Given the description of an element on the screen output the (x, y) to click on. 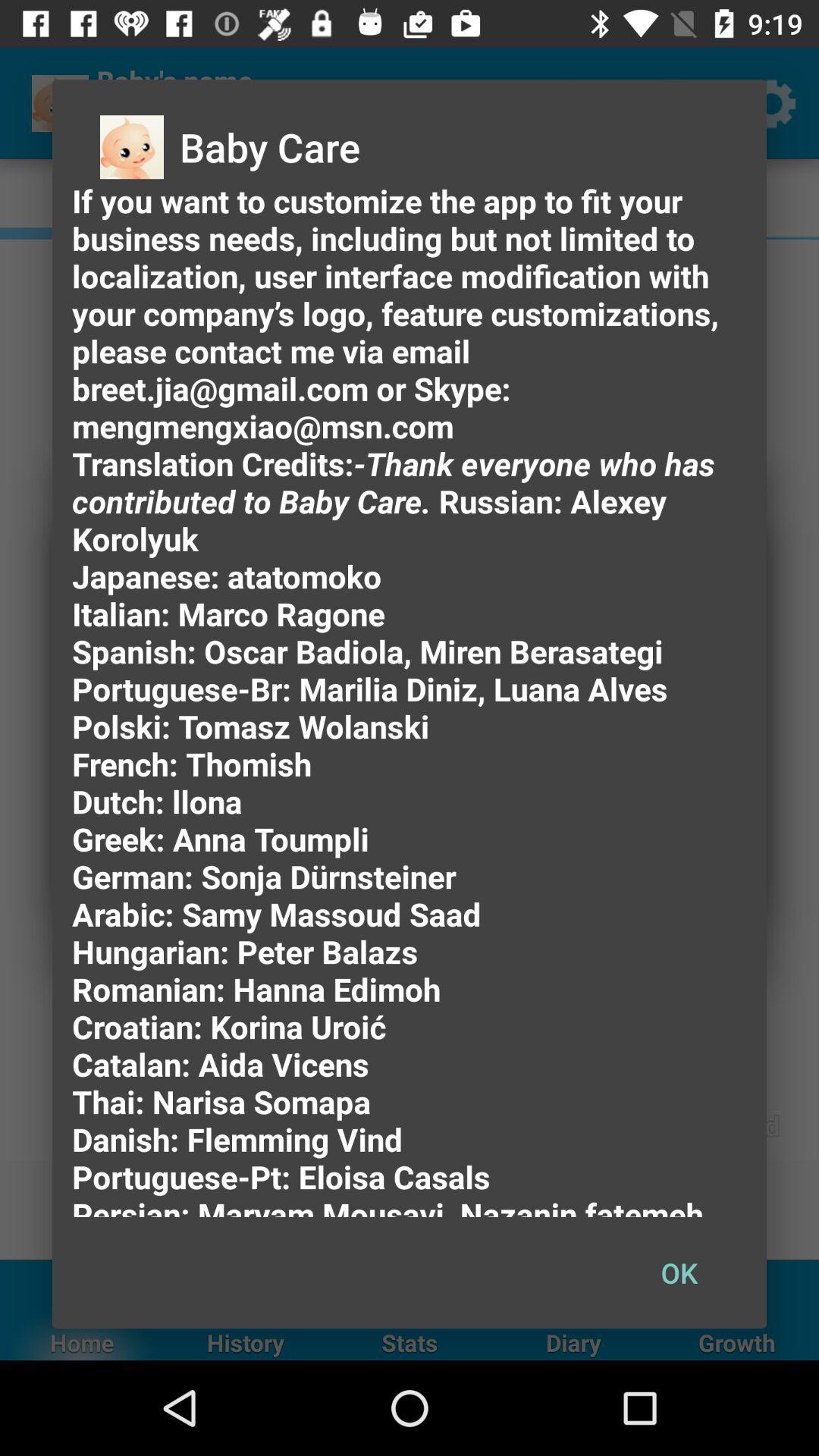
launch the ok at the bottom right corner (678, 1272)
